Given the description of an element on the screen output the (x, y) to click on. 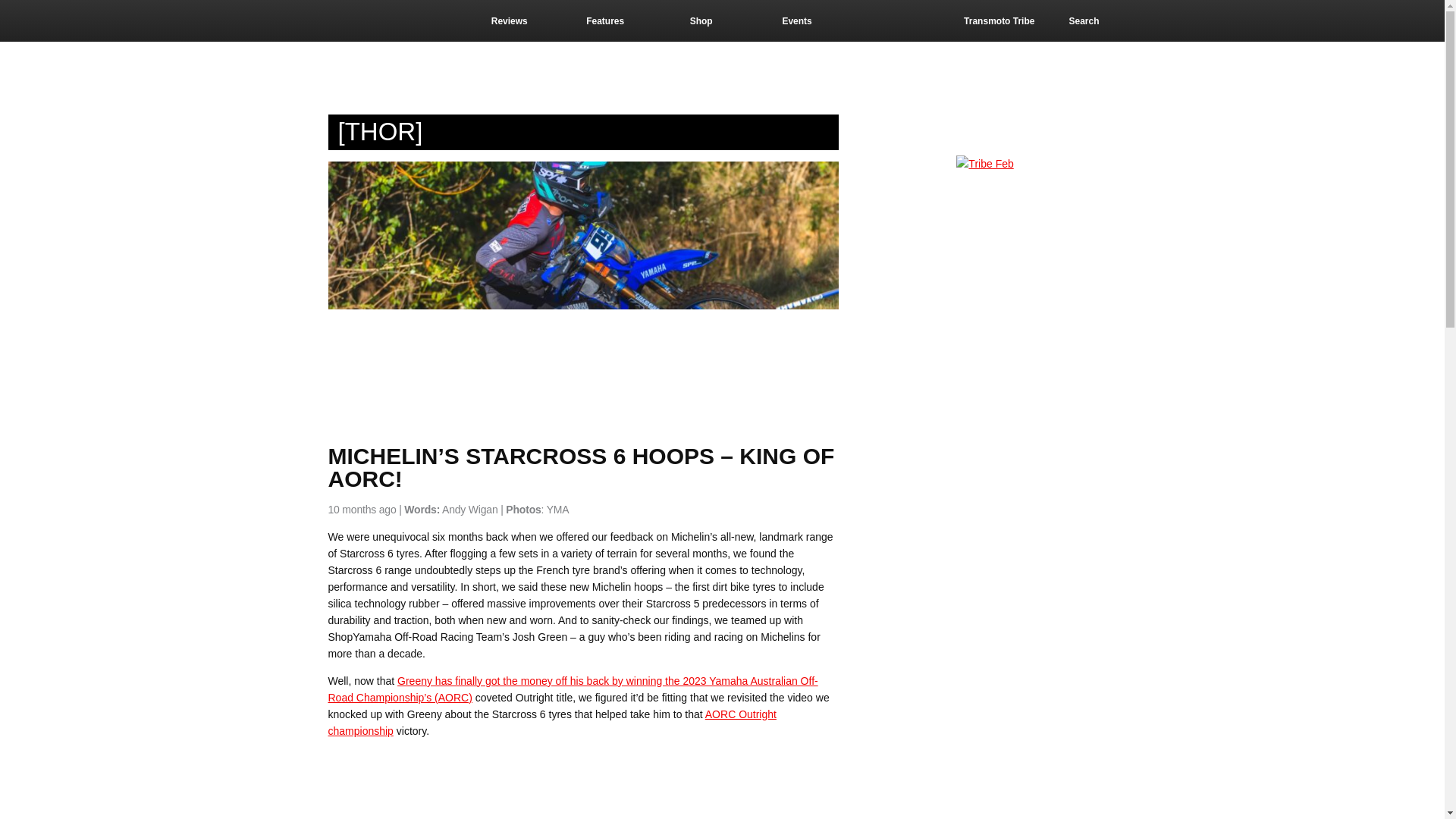
Transmoto Tribe (1014, 20)
RC Outright championship (551, 722)
AO (712, 714)
Search (1093, 20)
Tested: Michelin Starcross 6 Tyres (516, 784)
